Given the description of an element on the screen output the (x, y) to click on. 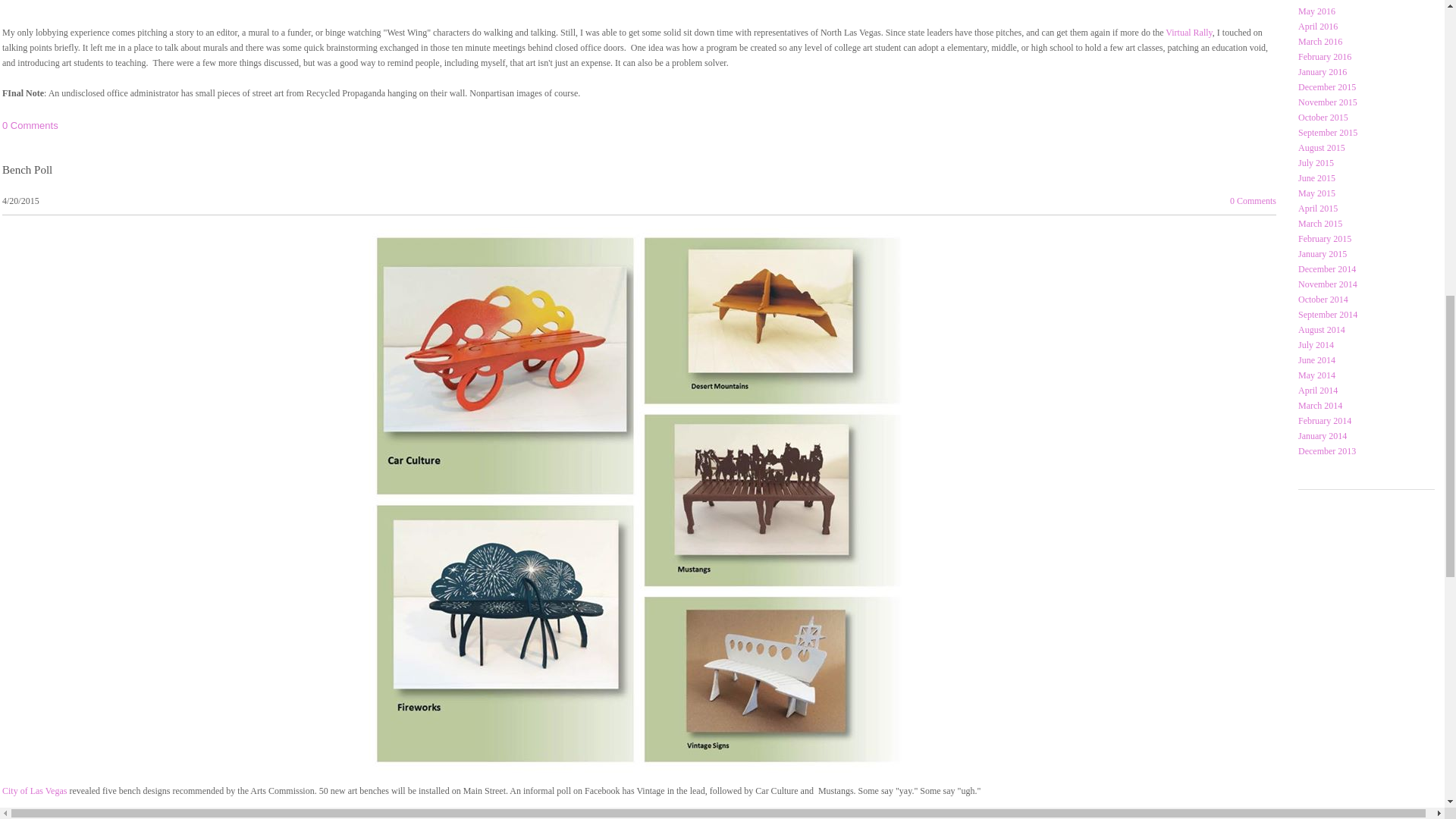
Bench Poll (27, 169)
Virtual Rally (1189, 32)
City of Las Vegas (34, 790)
0 Comments (1253, 200)
0 Comments (30, 818)
0 Comments (30, 125)
